Given the description of an element on the screen output the (x, y) to click on. 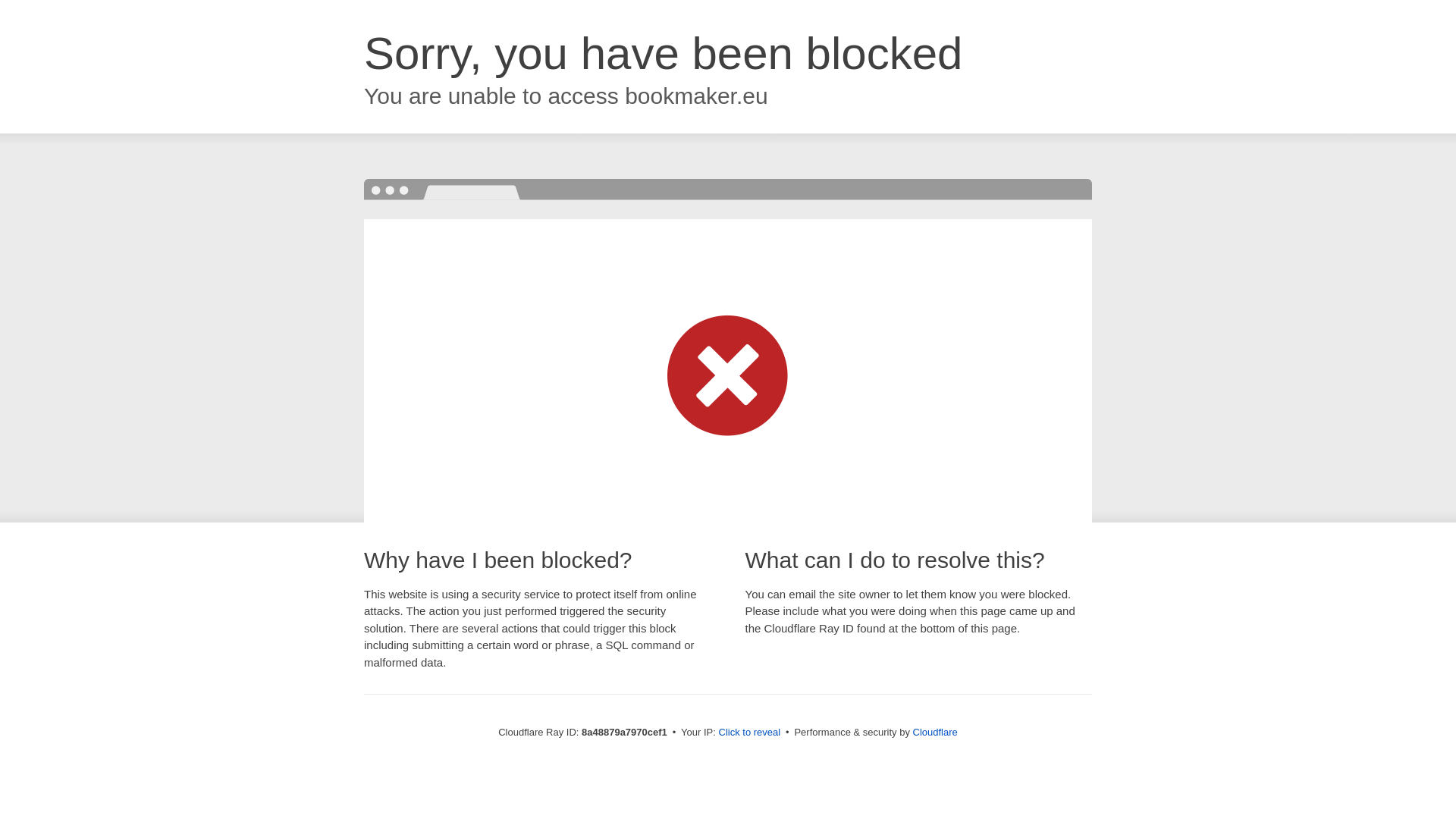
Cloudflare (935, 731)
Click to reveal (749, 732)
